Given the description of an element on the screen output the (x, y) to click on. 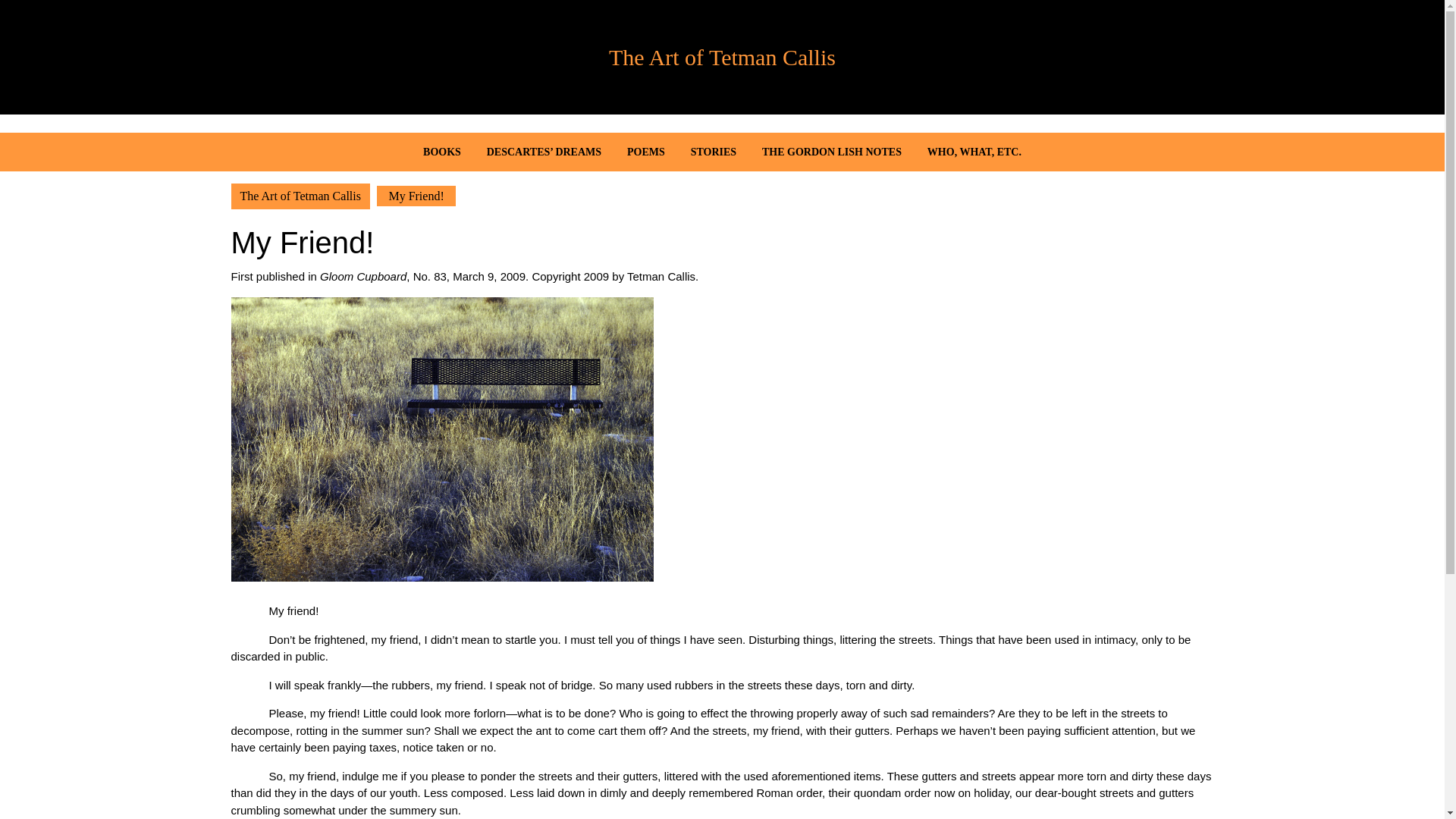
Search (1193, 73)
The Art of Tetman Callis (721, 57)
STORIES (713, 151)
POEMS (646, 151)
BOOKS (441, 151)
Search (1193, 73)
Search (1193, 73)
